Given the description of an element on the screen output the (x, y) to click on. 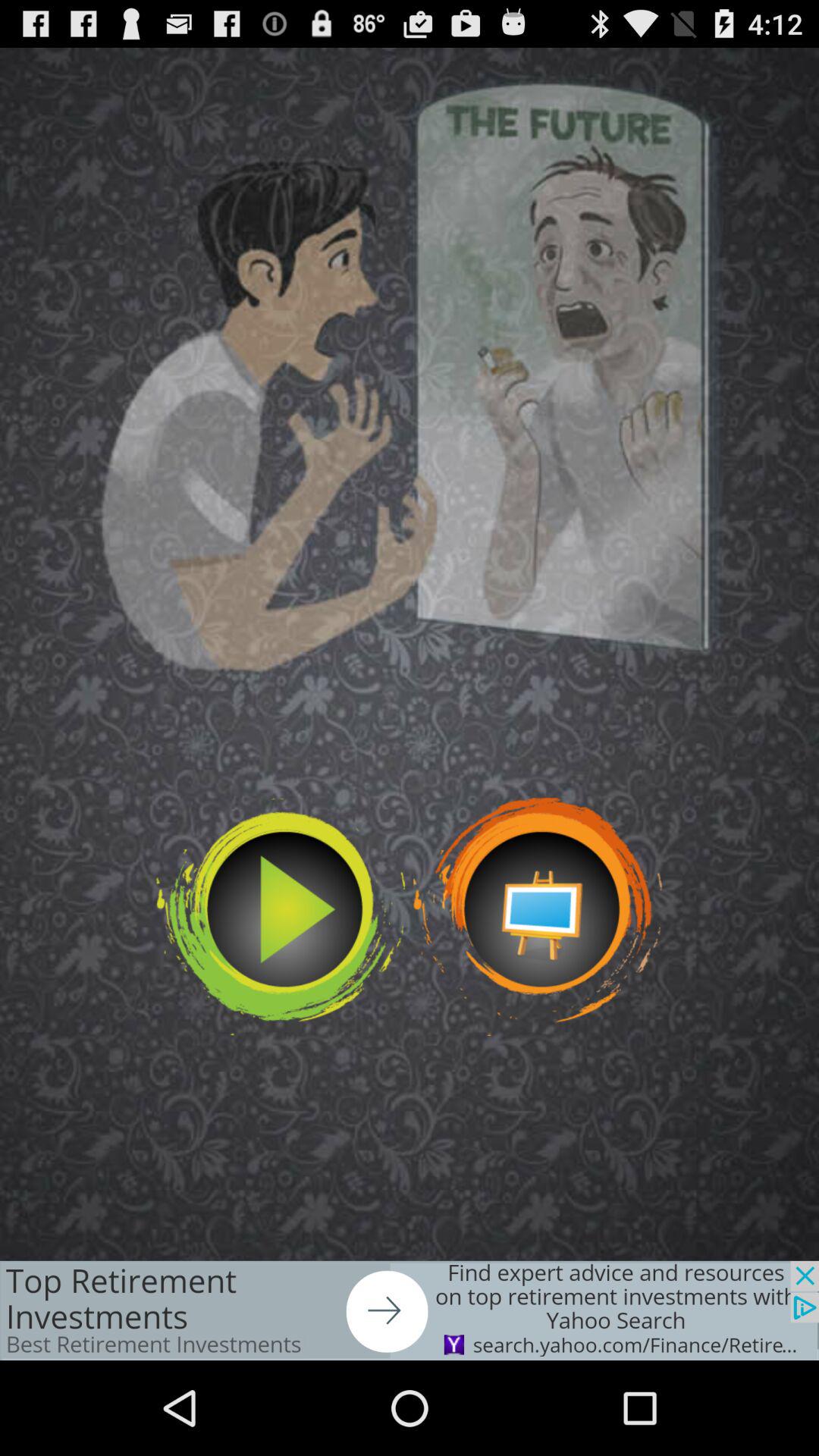
go to add source (409, 1310)
